Given the description of an element on the screen output the (x, y) to click on. 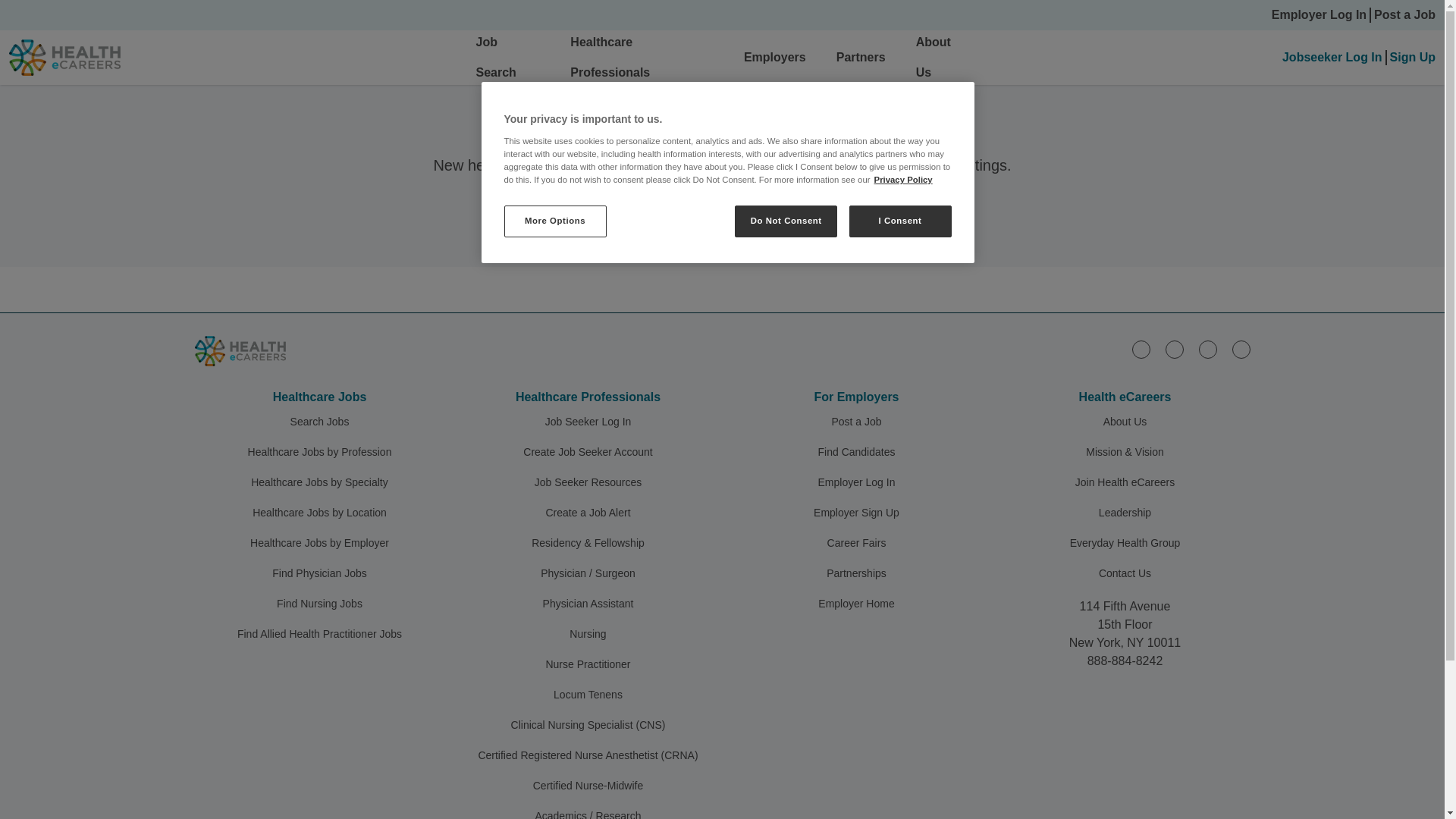
facebook (1173, 349)
Employers (775, 56)
Job Search (496, 57)
Post a Job (1404, 14)
linkedin (1140, 349)
twitter (1206, 349)
youtube (1240, 349)
Healthcare Professionals (609, 57)
Employer Log In (1319, 14)
